Given the description of an element on the screen output the (x, y) to click on. 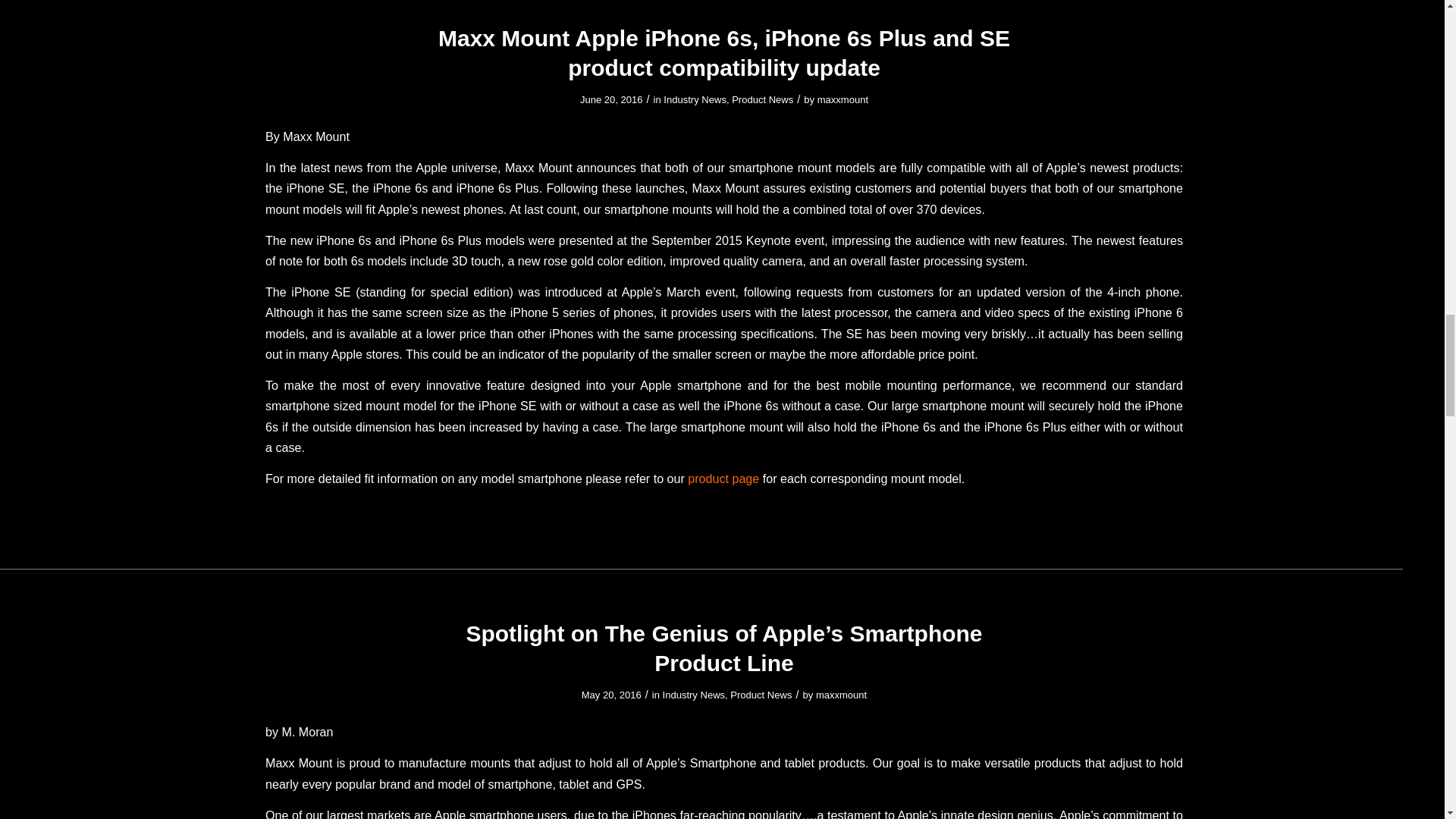
Posts by maxxmount (840, 695)
Posts by maxxmount (841, 99)
